Given the description of an element on the screen output the (x, y) to click on. 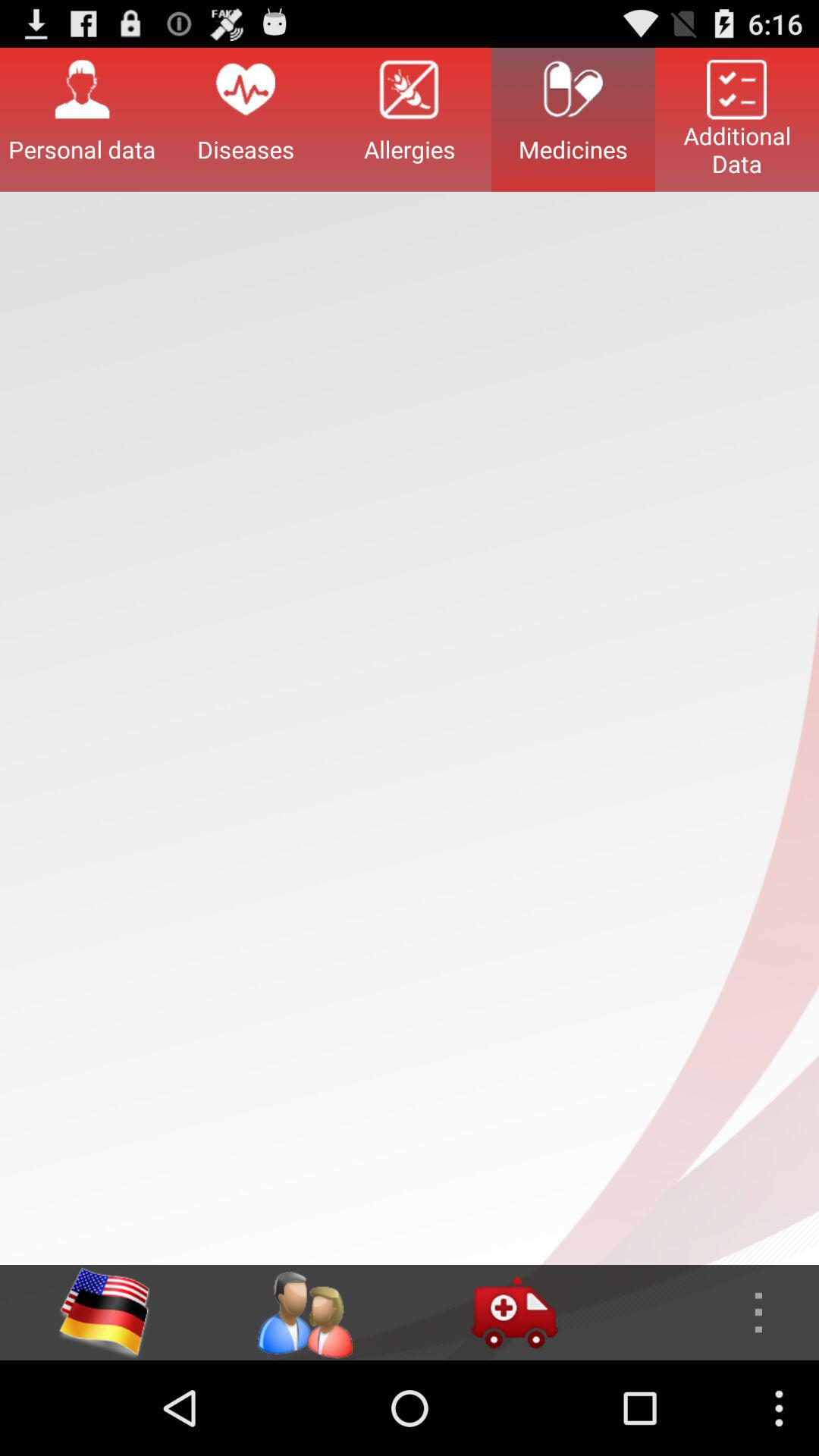
brings up interactive menu (713, 1312)
